Given the description of an element on the screen output the (x, y) to click on. 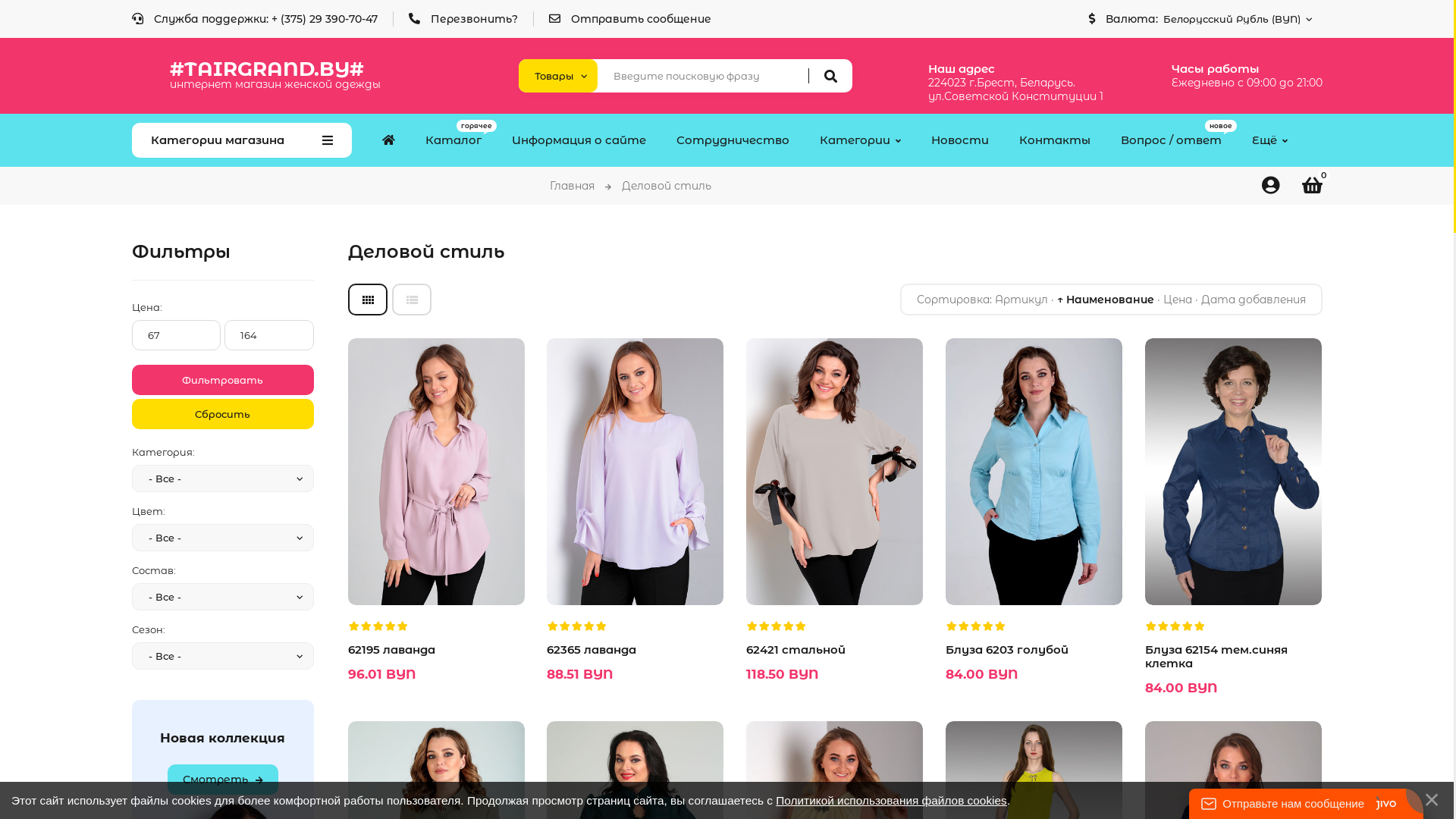
new Element type: text (834, 601)
new Element type: text (1033, 601)
new Element type: text (435, 601)
new Element type: text (634, 601)
+ (375) 29 390-70-47 Element type: text (324, 18)
new Element type: text (1233, 601)
